Given the description of an element on the screen output the (x, y) to click on. 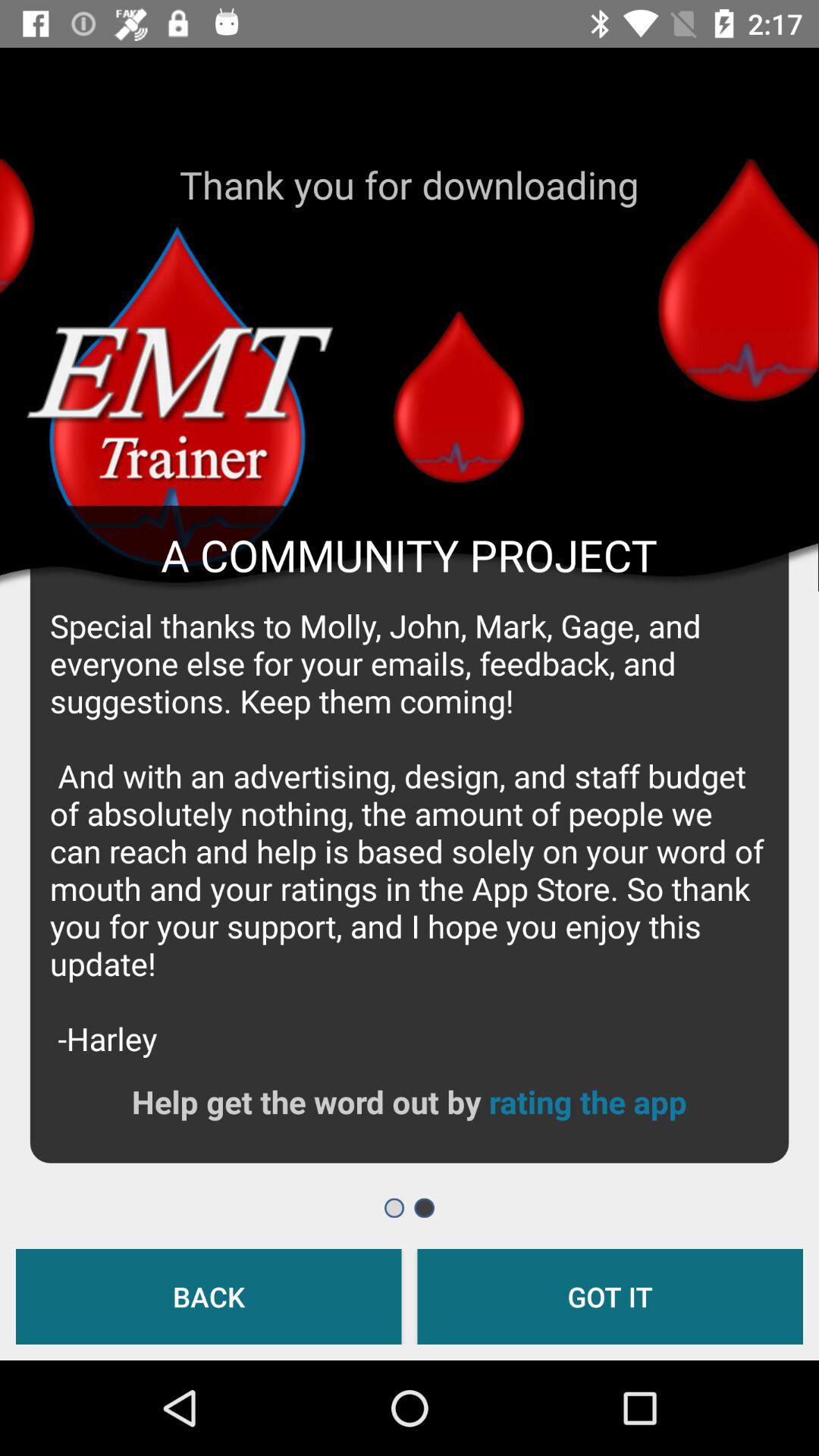
click the rating the app icon (588, 1101)
